Given the description of an element on the screen output the (x, y) to click on. 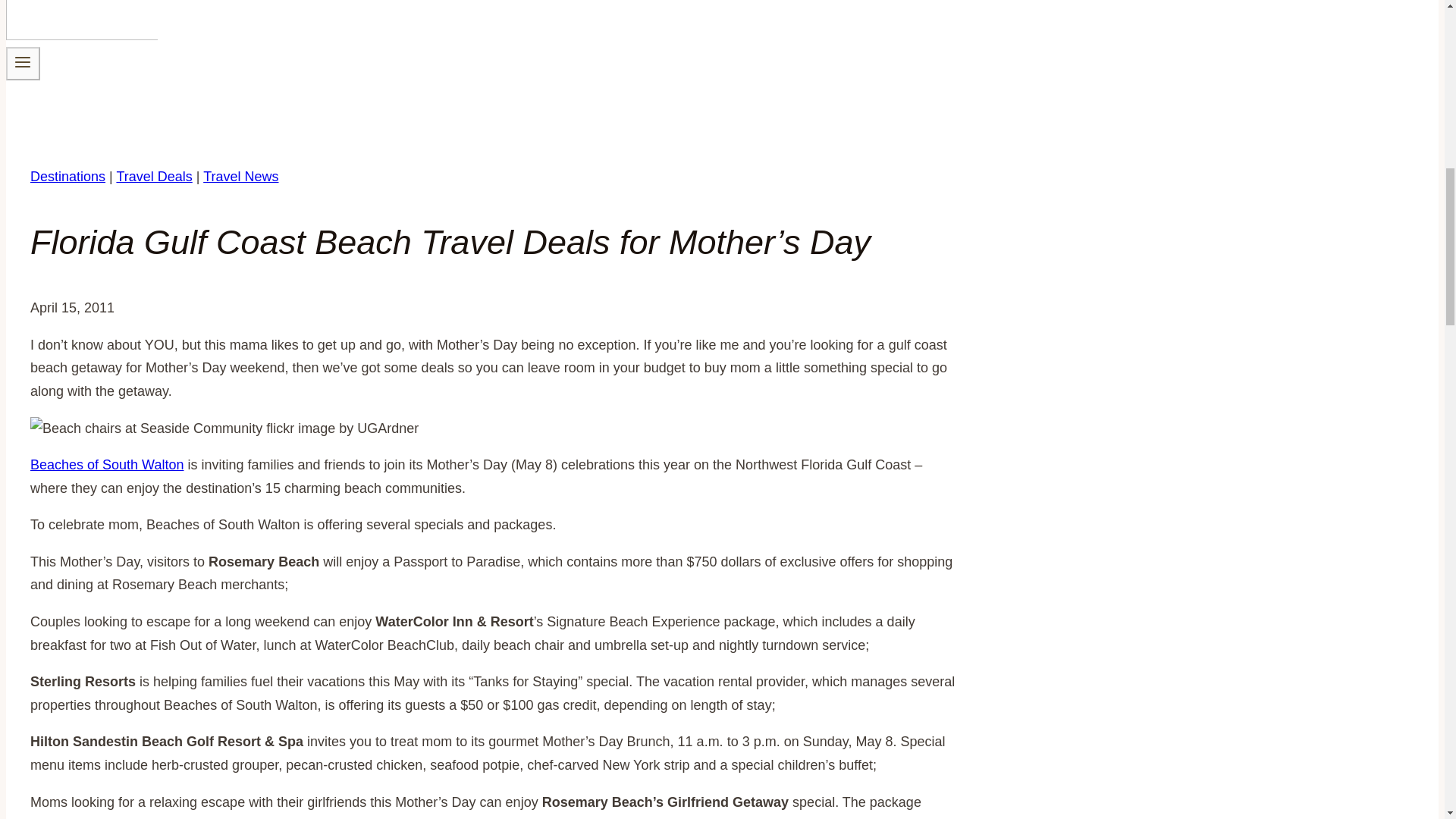
Travel News (240, 176)
Destinations (67, 176)
Beaches of South Walton (106, 464)
TOGGLE MENU (22, 63)
Seaside Beach Community Florida (224, 428)
Travel Deals (154, 176)
TOGGLE MENU (22, 62)
